Given the description of an element on the screen output the (x, y) to click on. 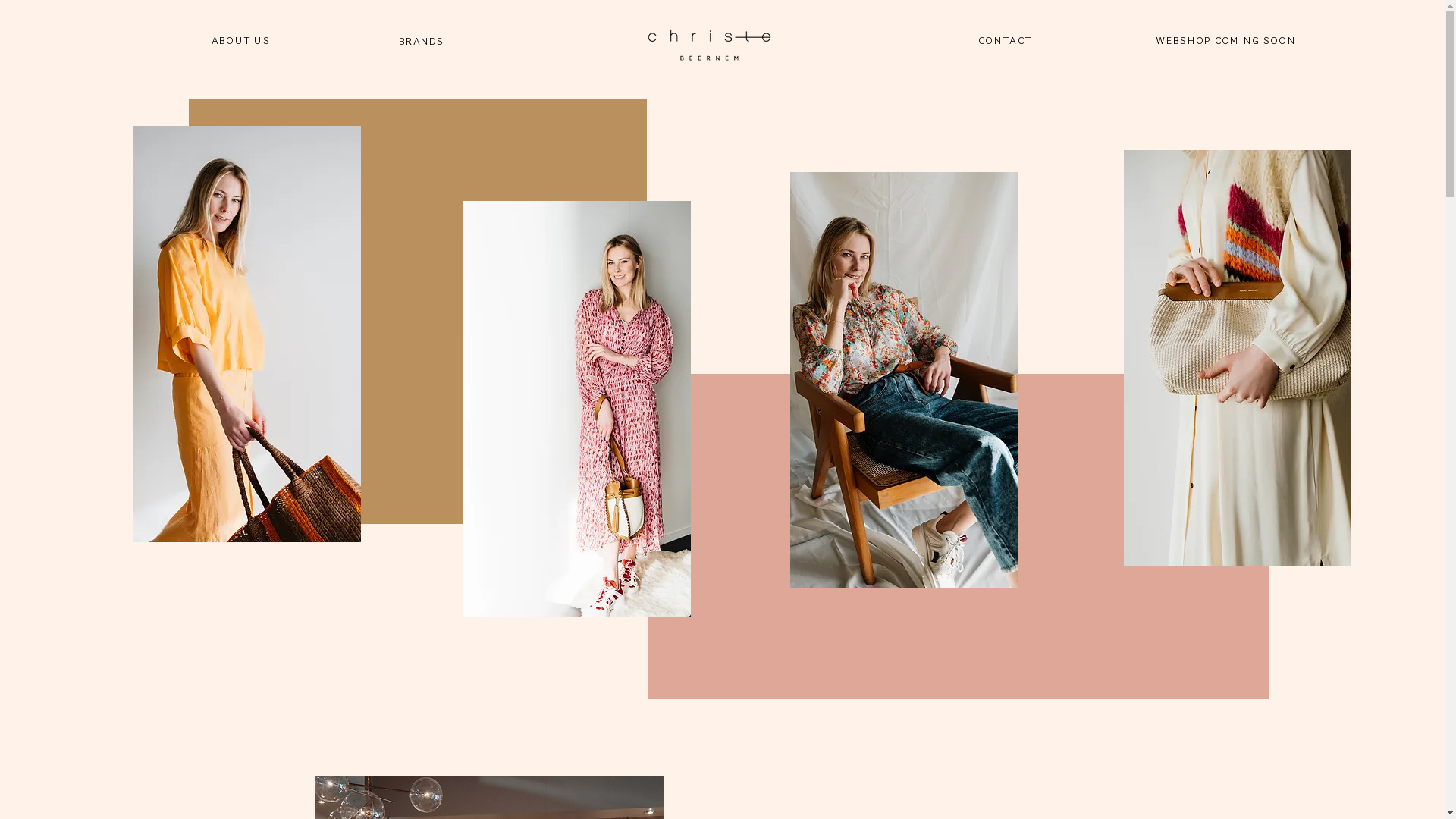
ABOUT US Element type: text (241, 40)
CONTACT Element type: text (1006, 40)
BRANDS Element type: text (422, 40)
WEBSHOP COMING SOON Element type: text (1227, 40)
